Given the description of an element on the screen output the (x, y) to click on. 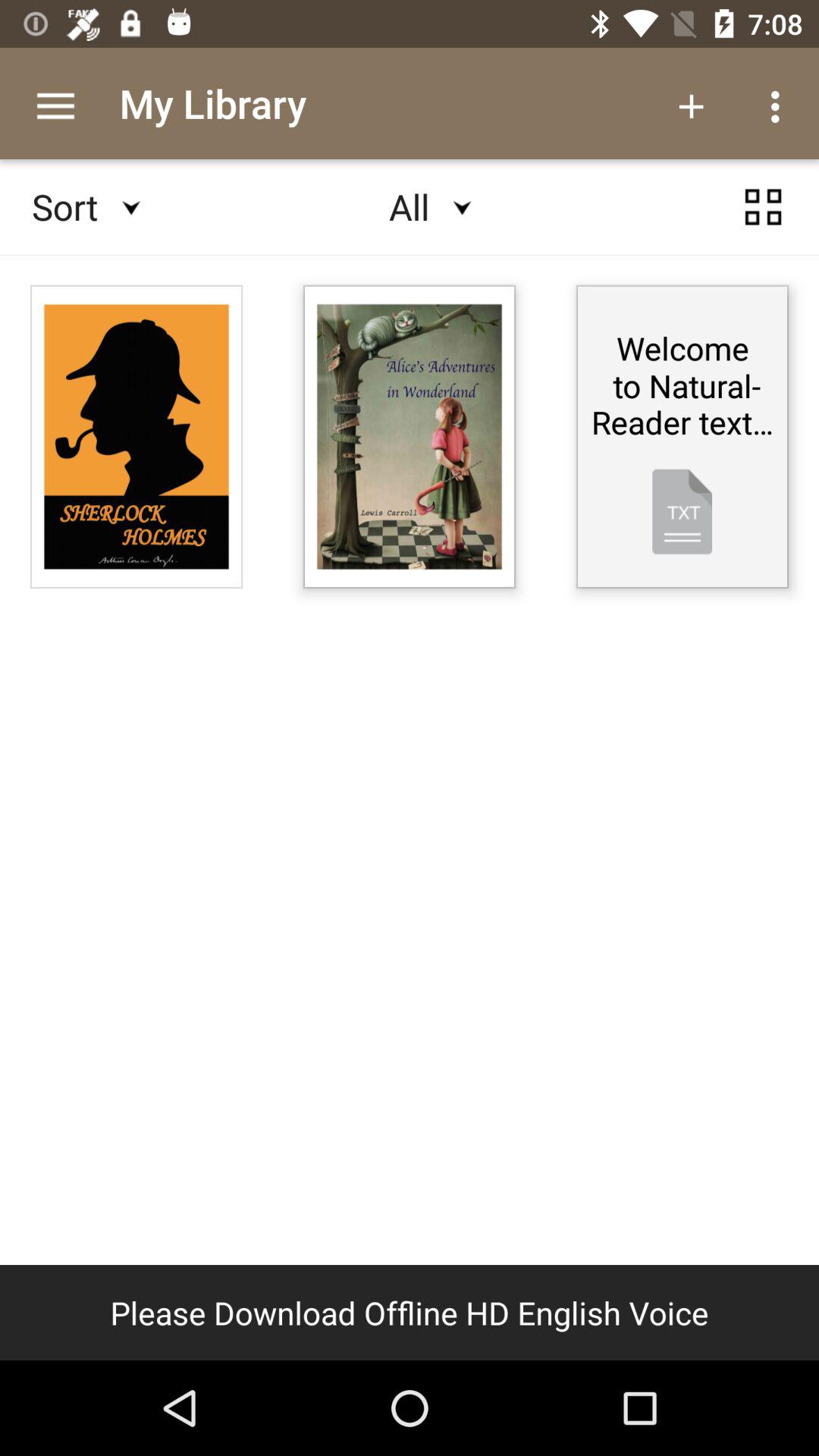
go to the category icon at the top right corner of the page (763, 206)
click on all at the top (409, 206)
click on options icon (779, 106)
